Given the description of an element on the screen output the (x, y) to click on. 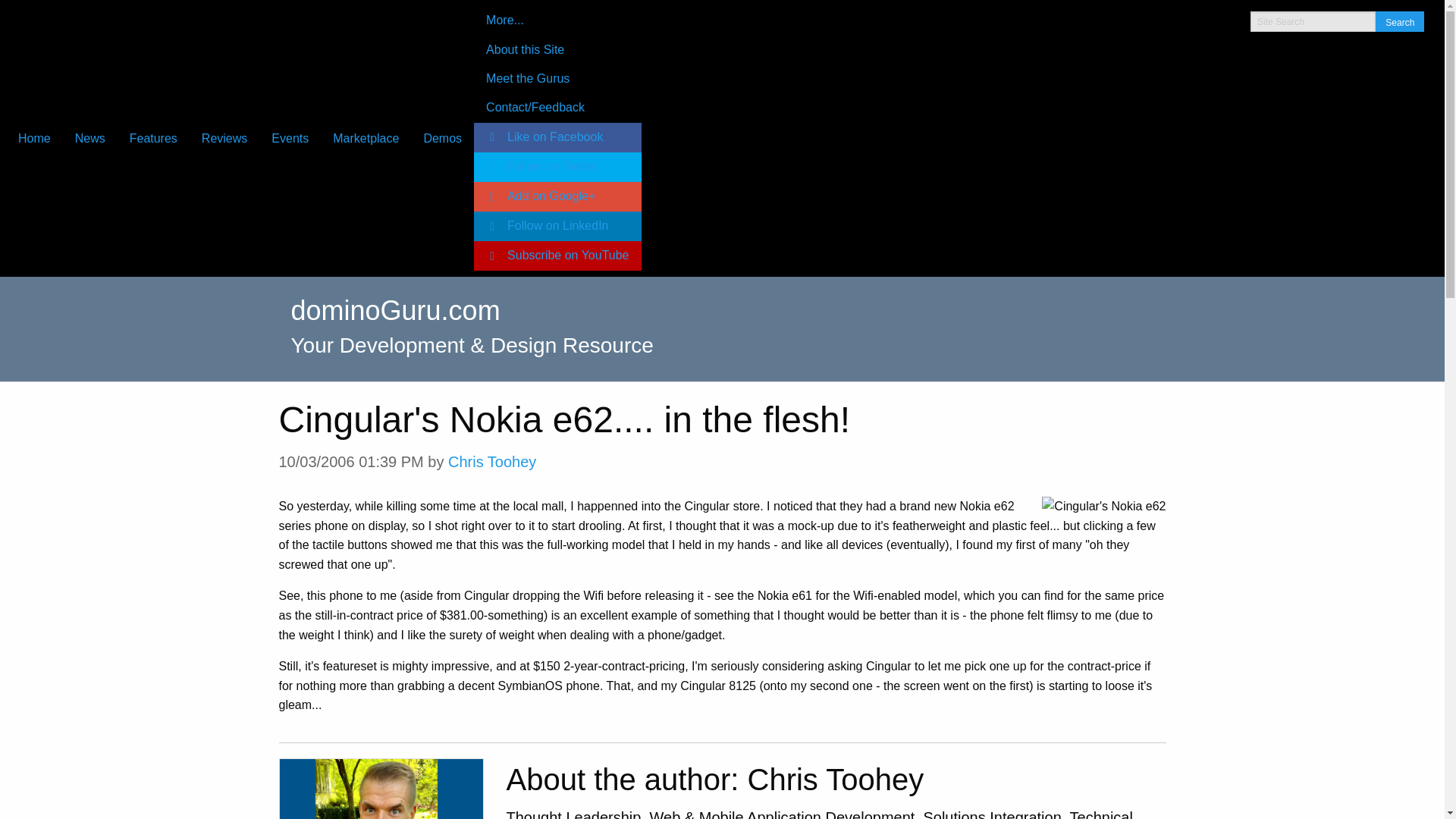
Features (153, 137)
About this Site (557, 49)
Home (33, 137)
More... (557, 20)
Marketplace (365, 137)
Chris Toohey (491, 461)
Follow on Twitter (557, 166)
Events (289, 137)
Follow on LinkedIn (557, 225)
Search (1399, 21)
Demos (442, 137)
Chris Toohey (381, 788)
Search for more by Chris Toohey (491, 461)
Like on Facebook (557, 137)
Reviews (224, 137)
